Given the description of an element on the screen output the (x, y) to click on. 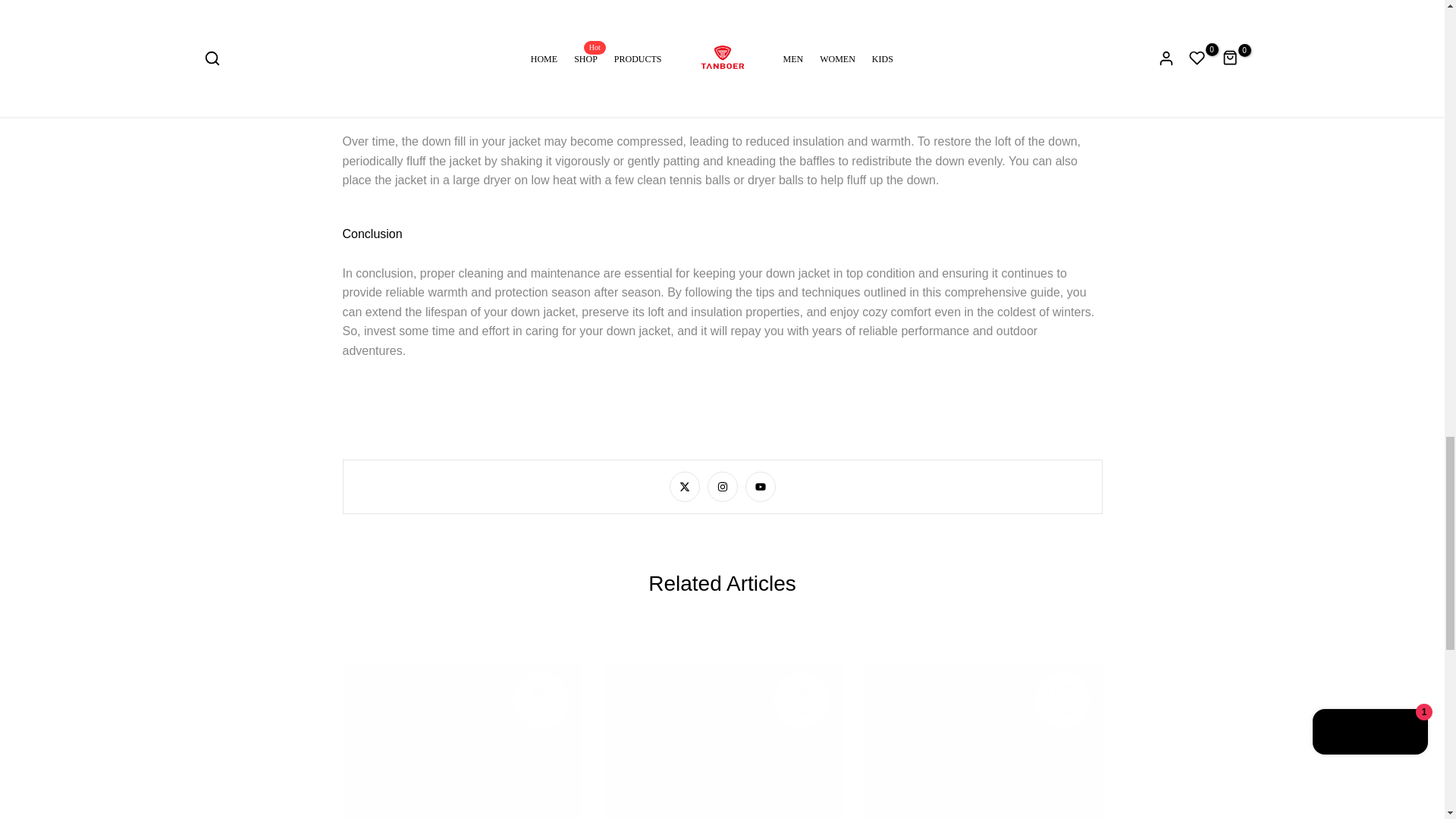
Follow on Twitter (683, 486)
Follow on YouTube (759, 486)
Follow on Instagram (721, 486)
